Given the description of an element on the screen output the (x, y) to click on. 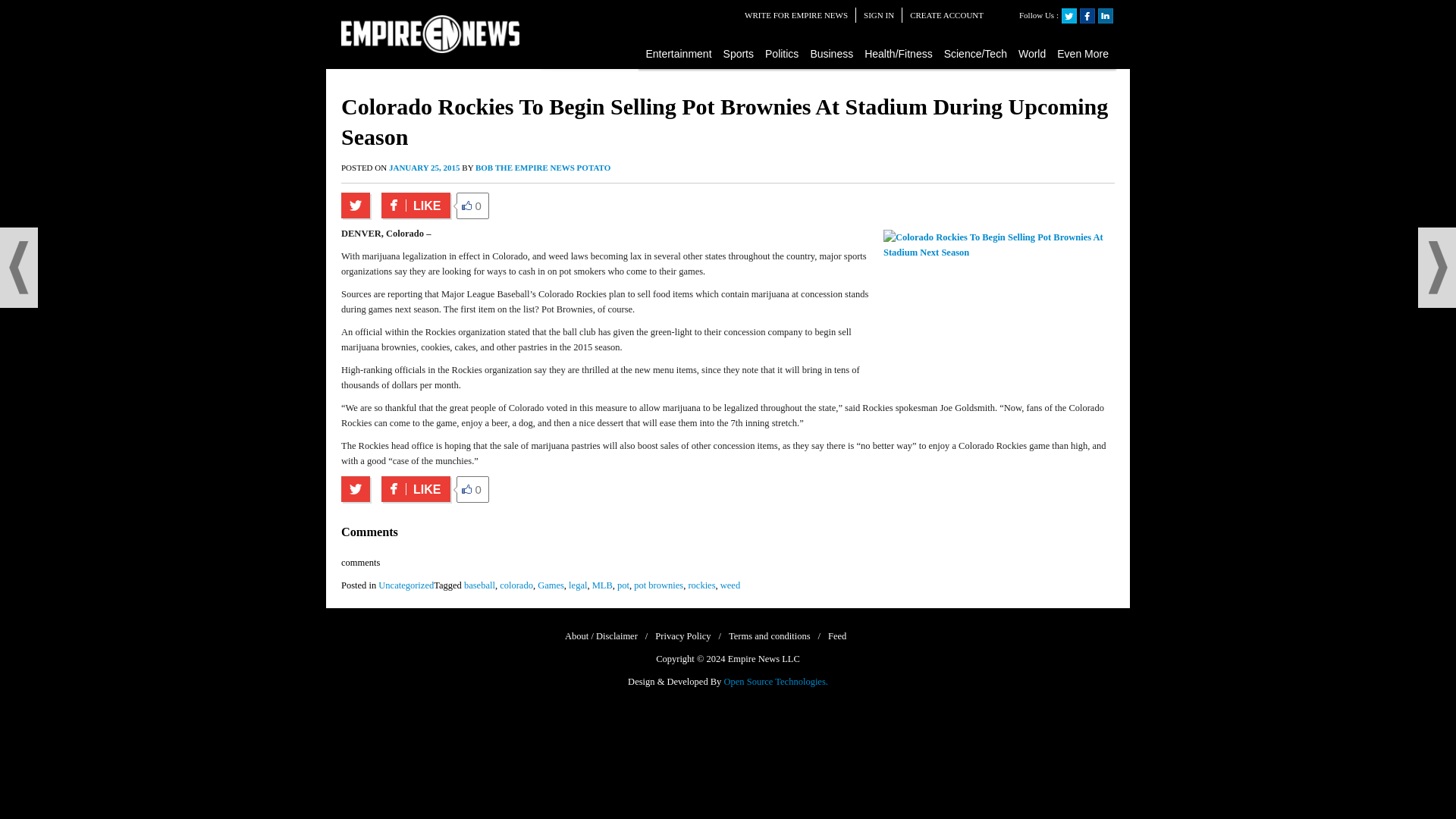
WRITE FOR EMPIRE NEWS (795, 14)
World (1032, 53)
Sports (738, 53)
Politics (782, 53)
Entertainment (678, 53)
CREATE ACCOUNT (947, 14)
SIGN IN (878, 14)
Business (832, 53)
